Given the description of an element on the screen output the (x, y) to click on. 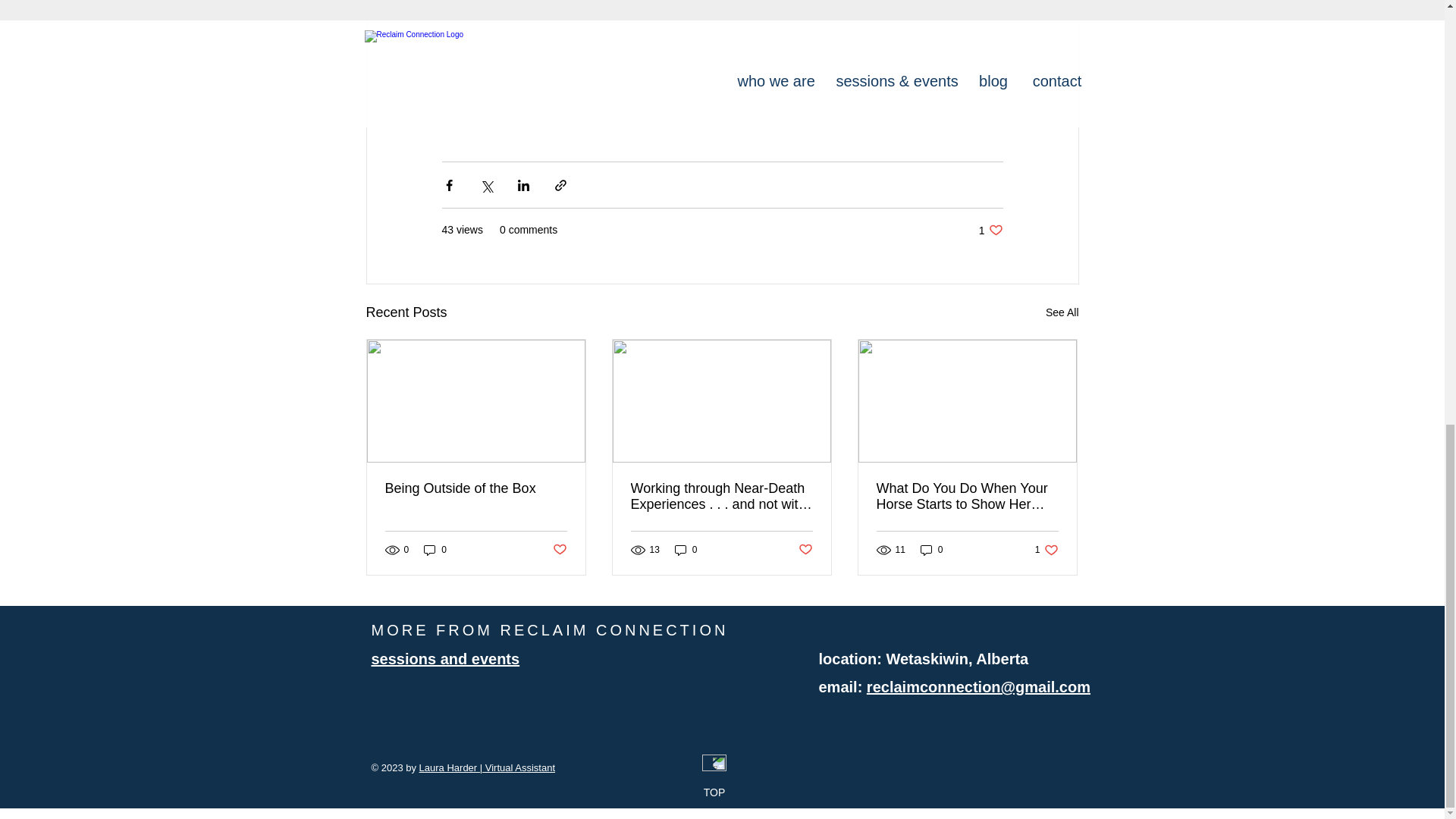
Post not marked as liked (804, 549)
Post not marked as liked (558, 549)
What Do You Do When Your Horse Starts to Show Her Age? (967, 496)
TOP (714, 792)
See All (990, 229)
0 (1061, 312)
0 (435, 549)
sessions and events (685, 549)
Being Outside of the Box (1046, 549)
0 (445, 658)
